Given the description of an element on the screen output the (x, y) to click on. 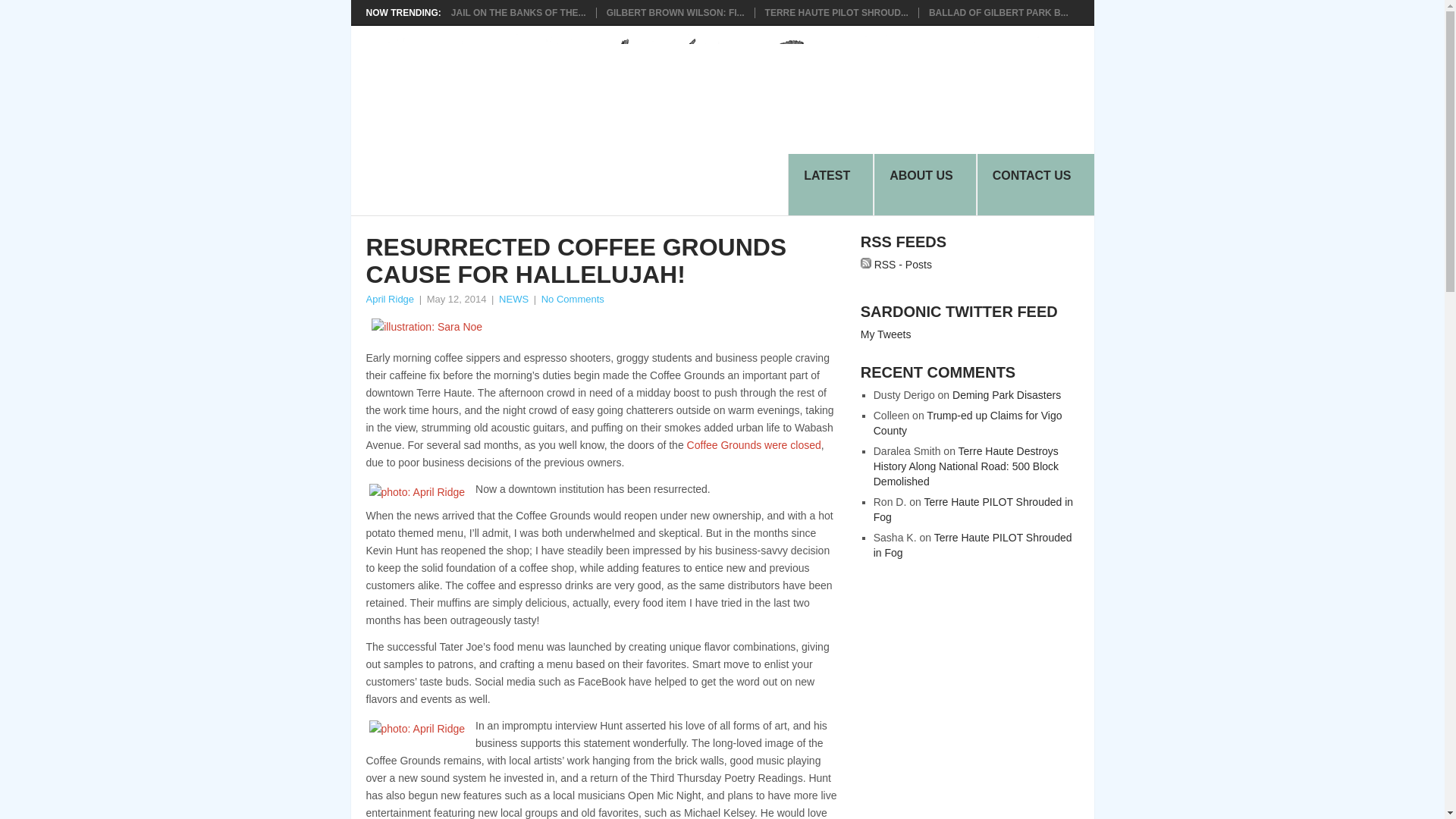
My Tweets (885, 334)
illustration: Sara Noe (601, 327)
NEWS (513, 298)
Gilbert Brown Wilson: Finally Out at Swope Pt.1 (675, 12)
Ballad of Gilbert Park Benches (998, 12)
Jail on the Banks of the Wabash (518, 12)
Deming Park Disasters (1006, 395)
Trump-ed up Claims for Vigo County (967, 422)
Coffee 6 Feet Under Grounds (752, 444)
